Given the description of an element on the screen output the (x, y) to click on. 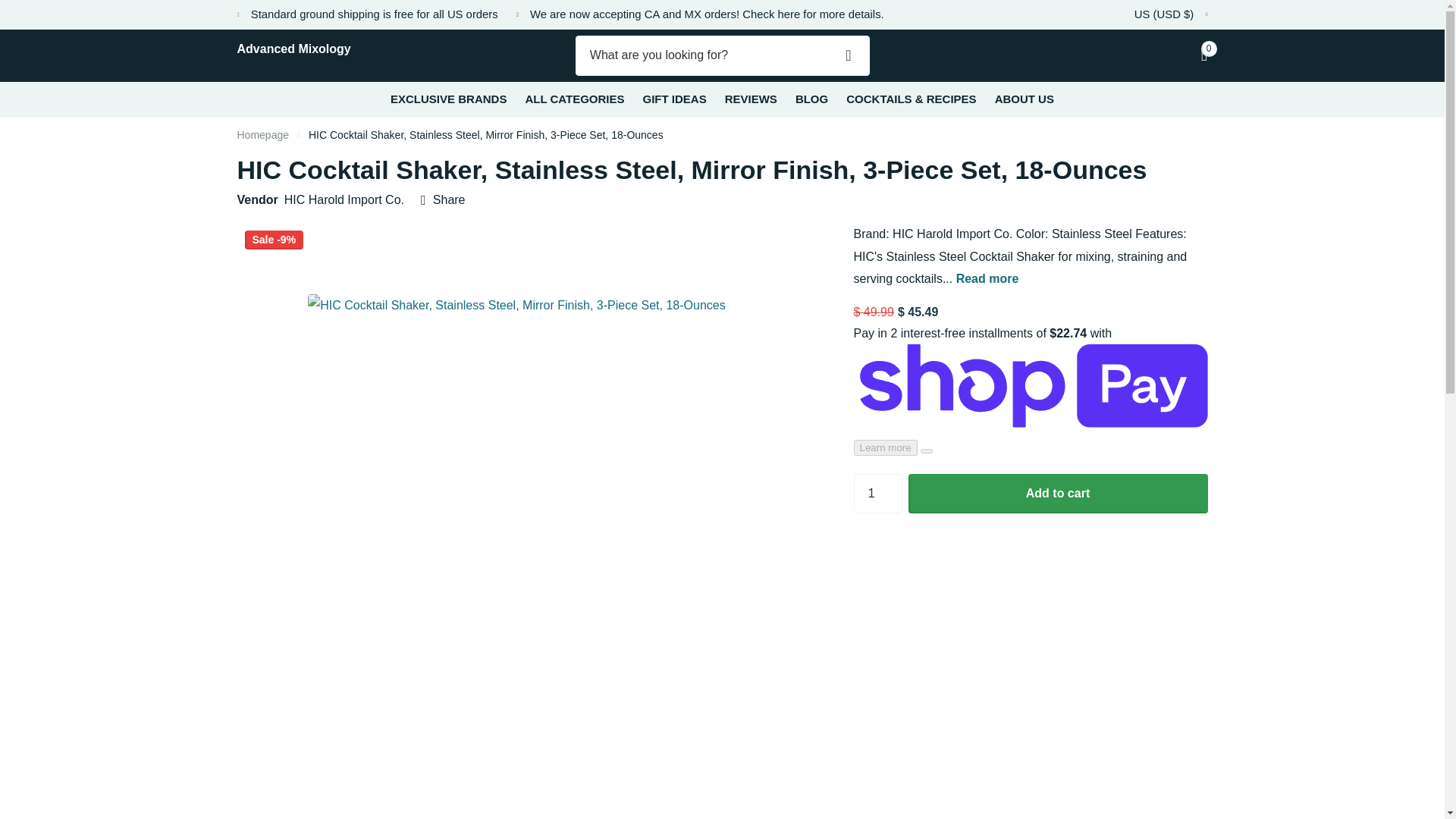
1 (877, 494)
here (788, 14)
Home (261, 134)
